Given the description of an element on the screen output the (x, y) to click on. 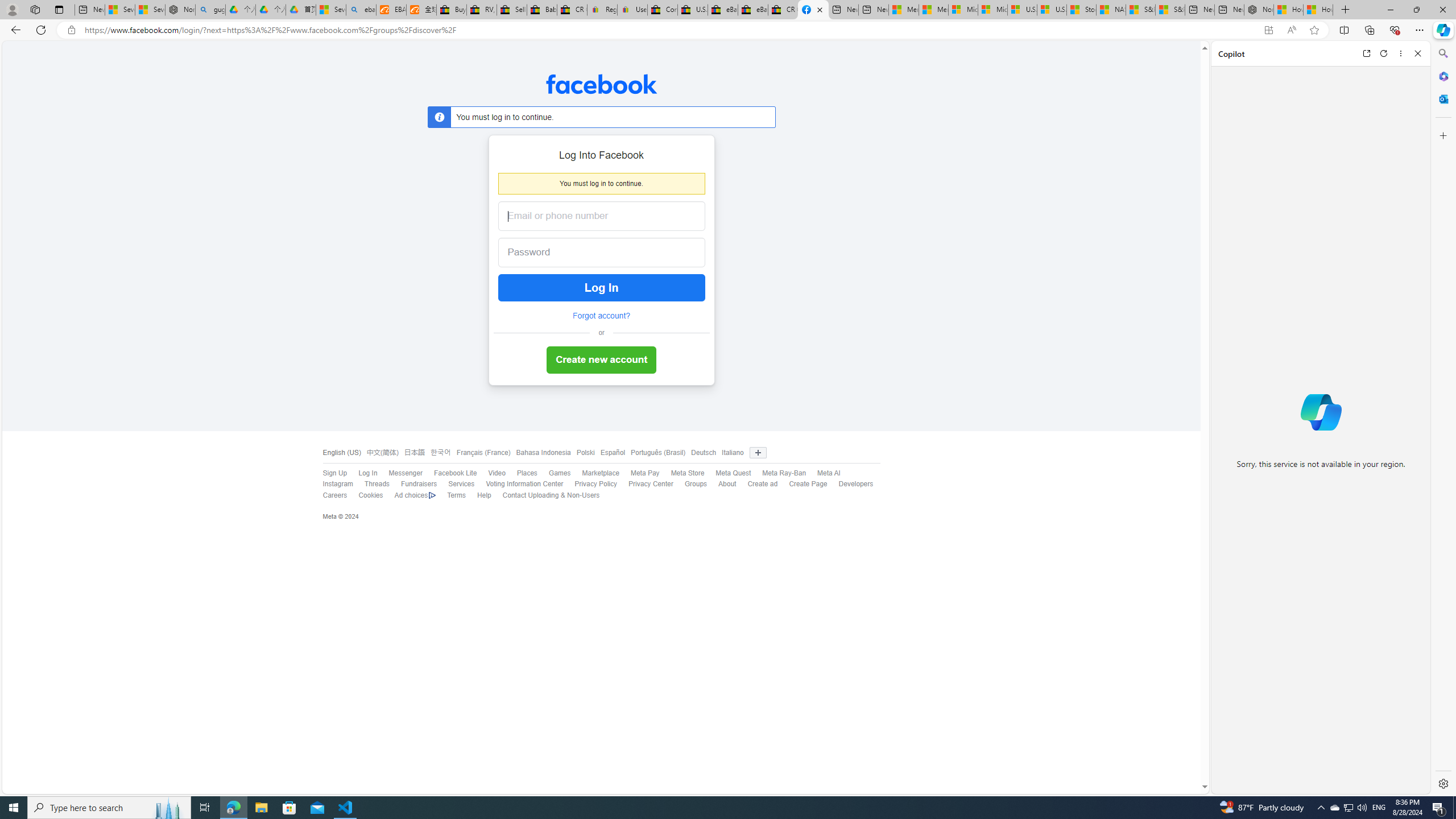
Consumer Health Data Privacy Policy - eBay Inc. (662, 9)
Games (553, 473)
Contact Uploading & Non-Users (544, 495)
Contact Uploading & Non-Users (550, 494)
Privacy Center (650, 483)
Italiano (730, 452)
Groups (695, 483)
Bahasa Indonesia (539, 452)
Games (559, 473)
Developers (855, 483)
Facebook Lite (449, 473)
Customize (1442, 135)
